Given the description of an element on the screen output the (x, y) to click on. 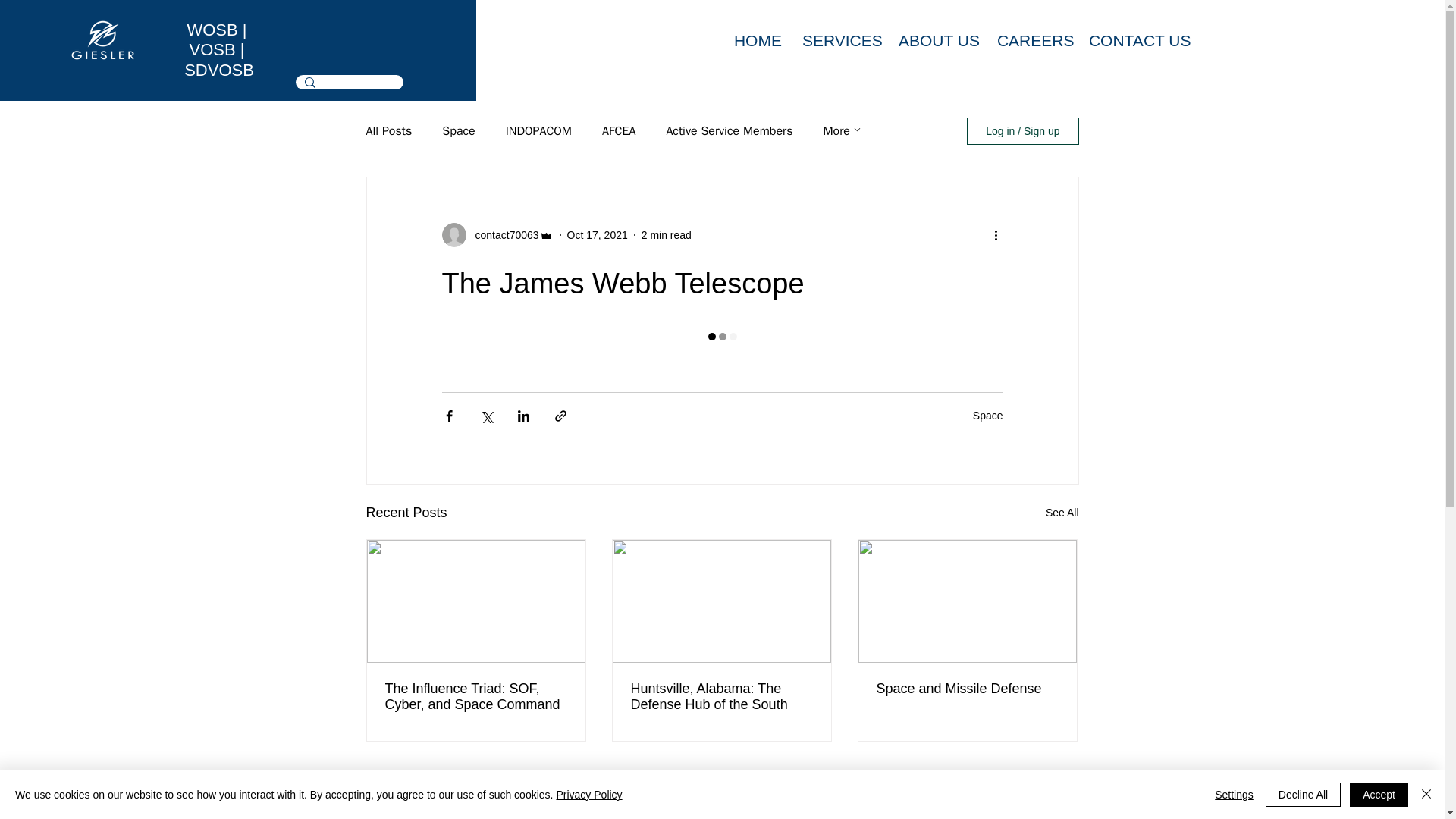
contact70063 (501, 235)
Space and Missile Defense (967, 688)
INDOPACOM (538, 131)
 SDVOSB (216, 69)
Active Service Members (728, 131)
AFCEA (618, 131)
2 min read (666, 234)
ABOUT US (935, 40)
Oct 17, 2021 (597, 234)
See All (1061, 513)
